Given the description of an element on the screen output the (x, y) to click on. 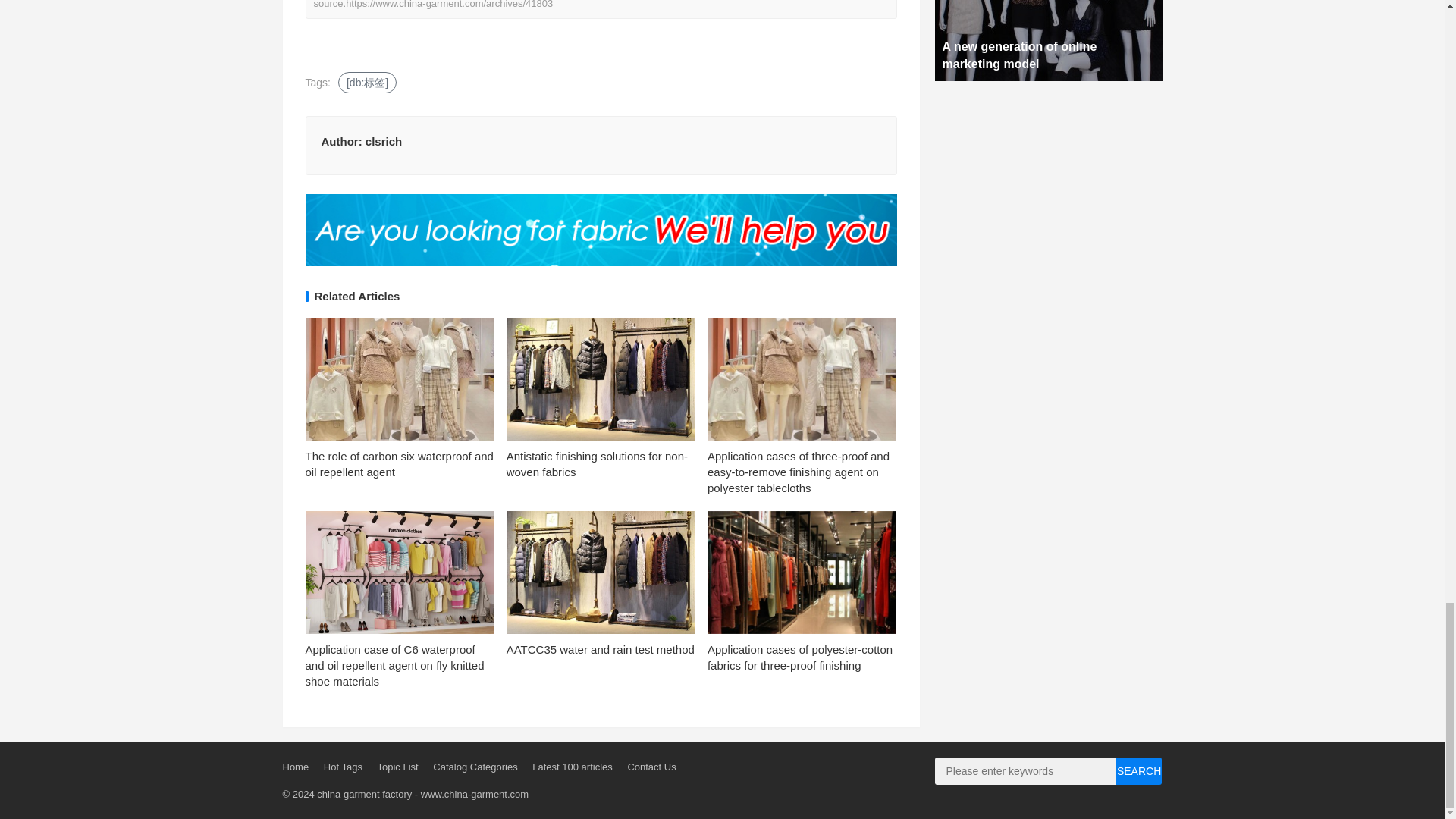
Antistatic finishing solutions for non-woven fabrics (596, 463)
AATCC35 water and rain test method (600, 649)
clsrich (383, 141)
The role of carbon six waterproof and oil repellent agent (398, 463)
